Given the description of an element on the screen output the (x, y) to click on. 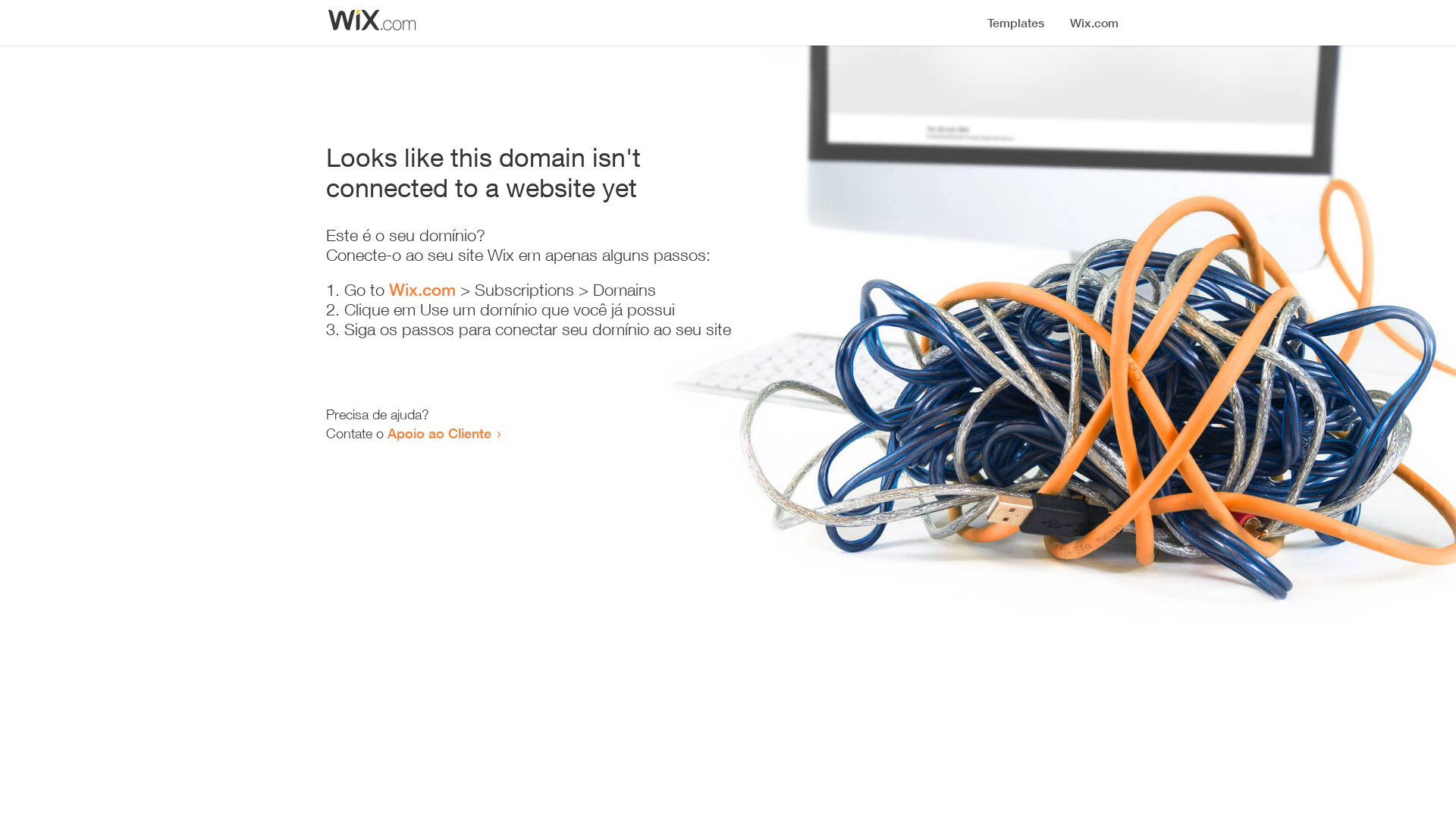
Wix.com Element type: text (422, 289)
Apoio ao Cliente Element type: text (439, 432)
